Given the description of an element on the screen output the (x, y) to click on. 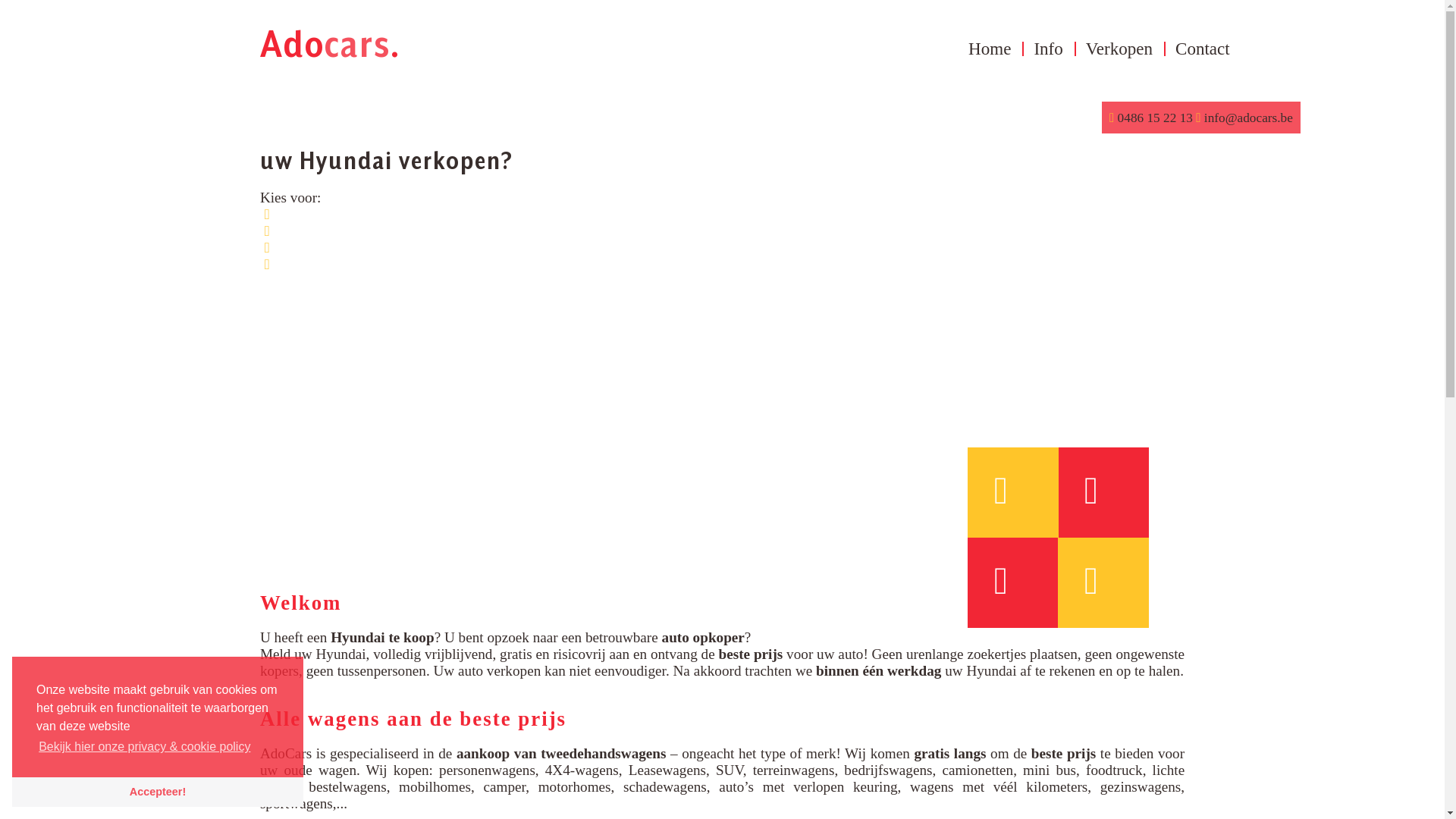
mini bus Element type: text (1049, 770)
terreinwagens Element type: text (793, 770)
foodtruck Element type: text (1113, 770)
0486 15 22 13 Element type: text (1154, 117)
lichte vracht Element type: text (722, 778)
Home Element type: text (989, 48)
Info Element type: text (1047, 48)
SUV Element type: text (729, 770)
Bekijk hier onze privacy & cookie policy Element type: text (144, 746)
Contact Element type: text (1202, 48)
bestelwagens Element type: text (346, 786)
Leasewagens Element type: text (667, 770)
camper Element type: text (504, 786)
schadewagens Element type: text (664, 786)
motorhomes Element type: text (574, 786)
bedrijfswagens Element type: text (887, 770)
info@adocars.be Element type: text (1246, 117)
auto opkoper Element type: text (703, 637)
Verkopen Element type: text (1119, 48)
Accepteer! Element type: text (157, 791)
camionetten Element type: text (977, 770)
mobilhomes Element type: text (434, 786)
auto verkopen Element type: text (499, 670)
